Given the description of an element on the screen output the (x, y) to click on. 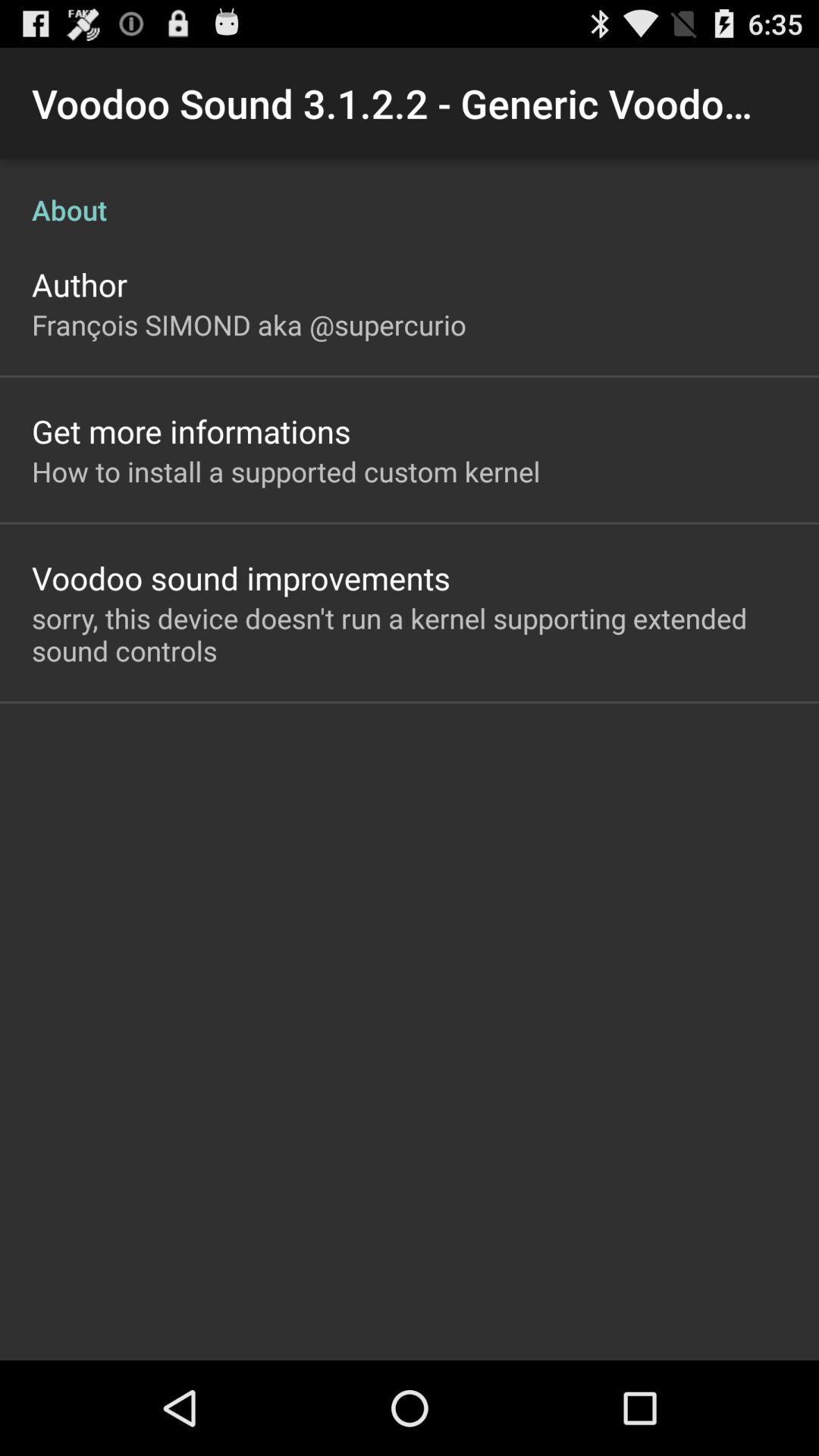
choose the item below the voodoo sound improvements (409, 634)
